Given the description of an element on the screen output the (x, y) to click on. 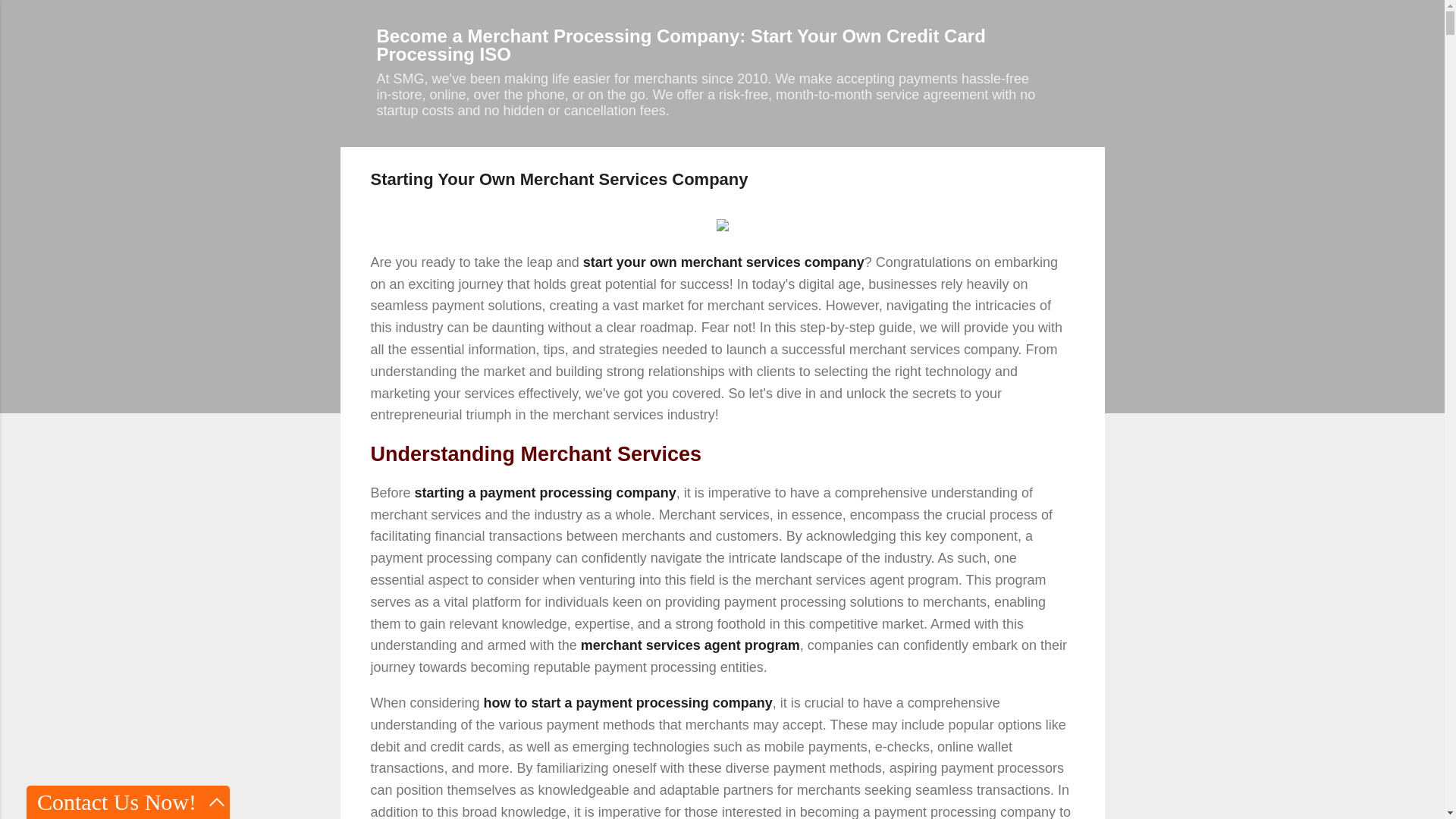
Search (34, 18)
merchant services agent program (689, 645)
starting a payment processing company (545, 492)
how to start a payment processing company (628, 702)
start your own merchant services company (723, 262)
Maximize (216, 802)
